Given the description of an element on the screen output the (x, y) to click on. 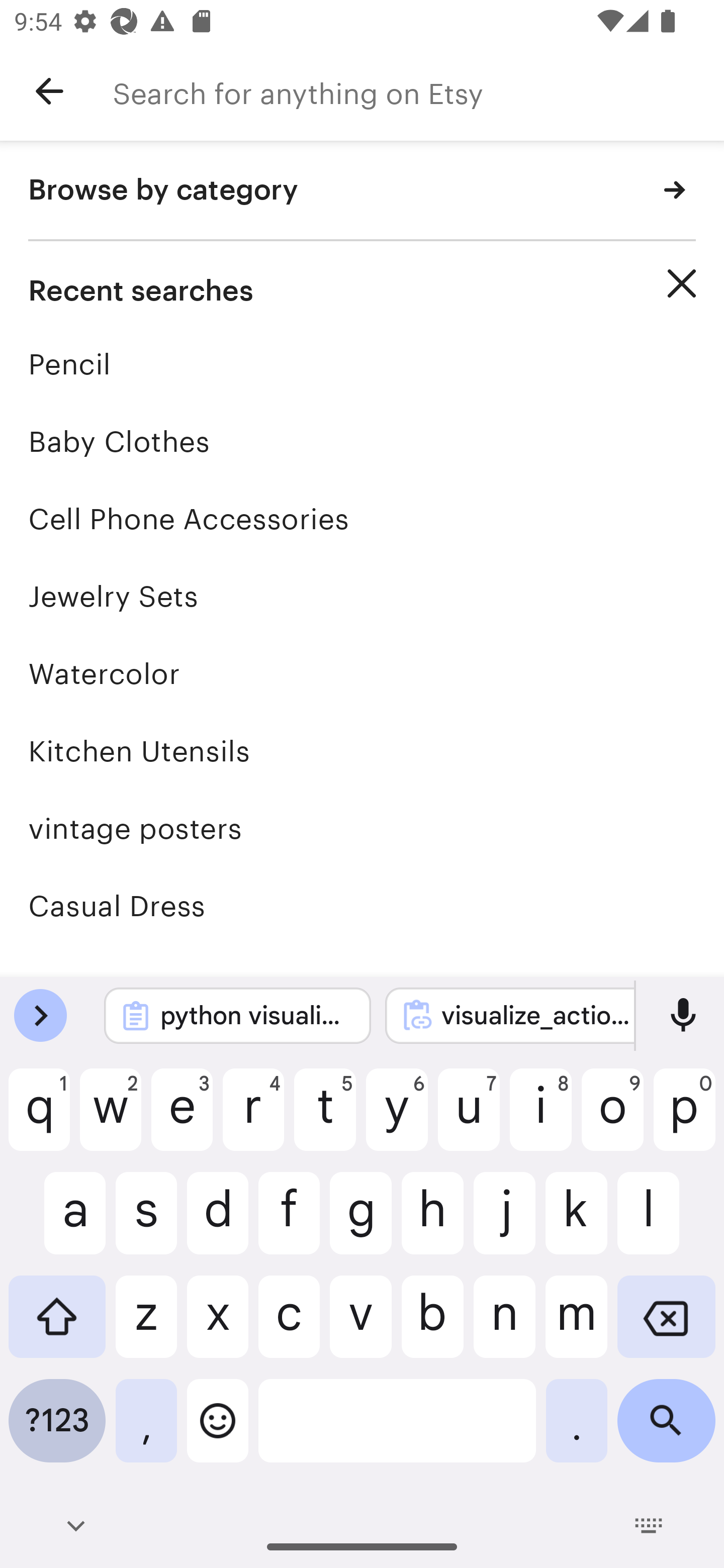
Navigate up (49, 91)
Search for anything on Etsy (418, 91)
Browse by category (362, 191)
Clear (681, 283)
Pencil (362, 364)
Baby Clothes (362, 440)
Cell Phone Accessories (362, 518)
Jewelry Sets (362, 596)
Watercolor (362, 673)
Kitchen Utensils (362, 750)
vintage posters (362, 828)
Casual Dress (362, 906)
